Given the description of an element on the screen output the (x, y) to click on. 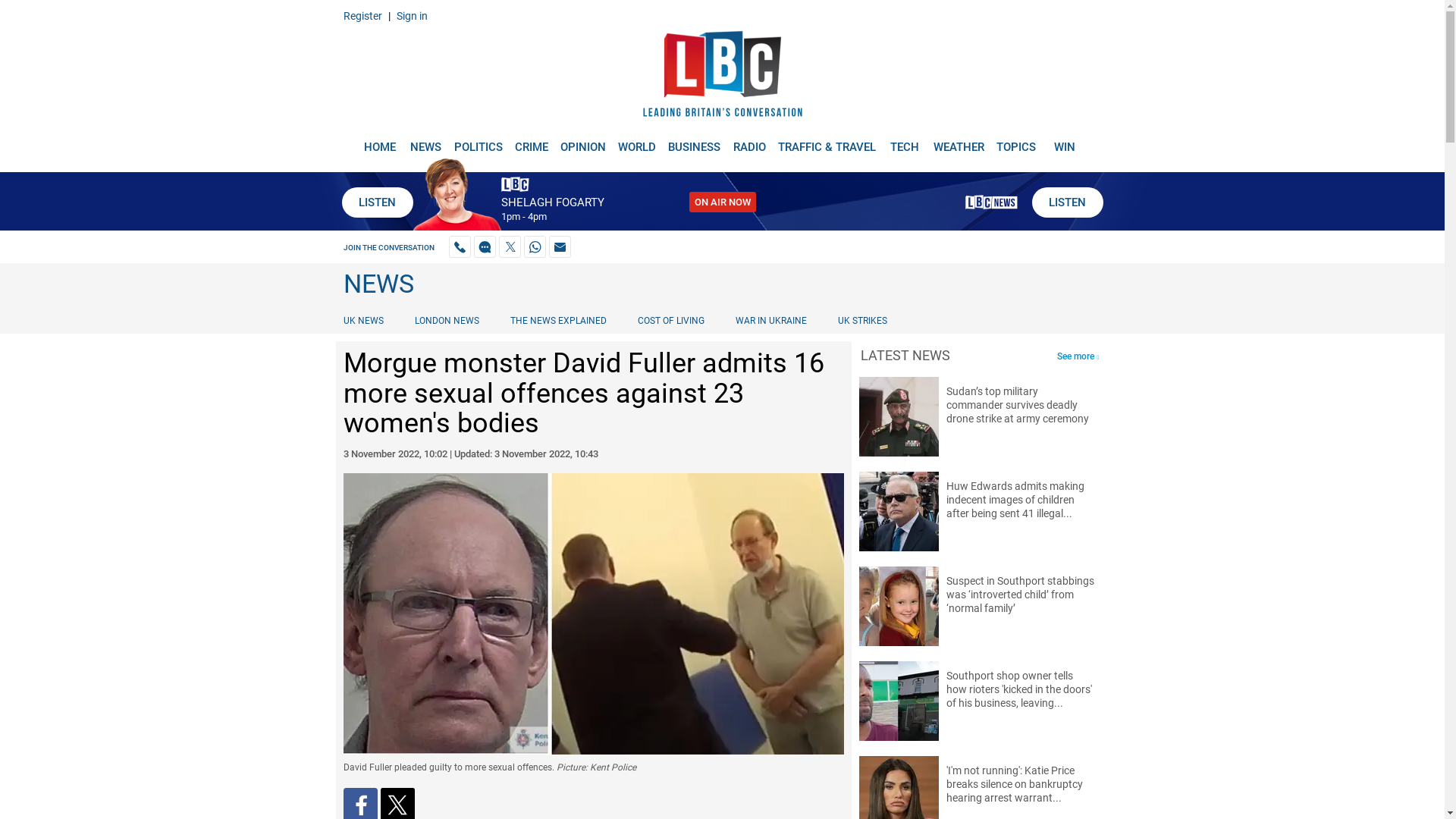
LISTEN (376, 202)
HOME (379, 140)
BUSINESS (694, 140)
TOPICS (1016, 140)
THE NEWS EXPLAINED (558, 320)
UK STRIKES (862, 320)
OPINION (582, 140)
WORLD (636, 140)
RADIO (748, 140)
LISTEN (1066, 202)
NEWS (425, 140)
Sign in (411, 15)
WAR IN UKRAINE (770, 320)
POLITICS (478, 140)
LONDON NEWS (446, 320)
